Given the description of an element on the screen output the (x, y) to click on. 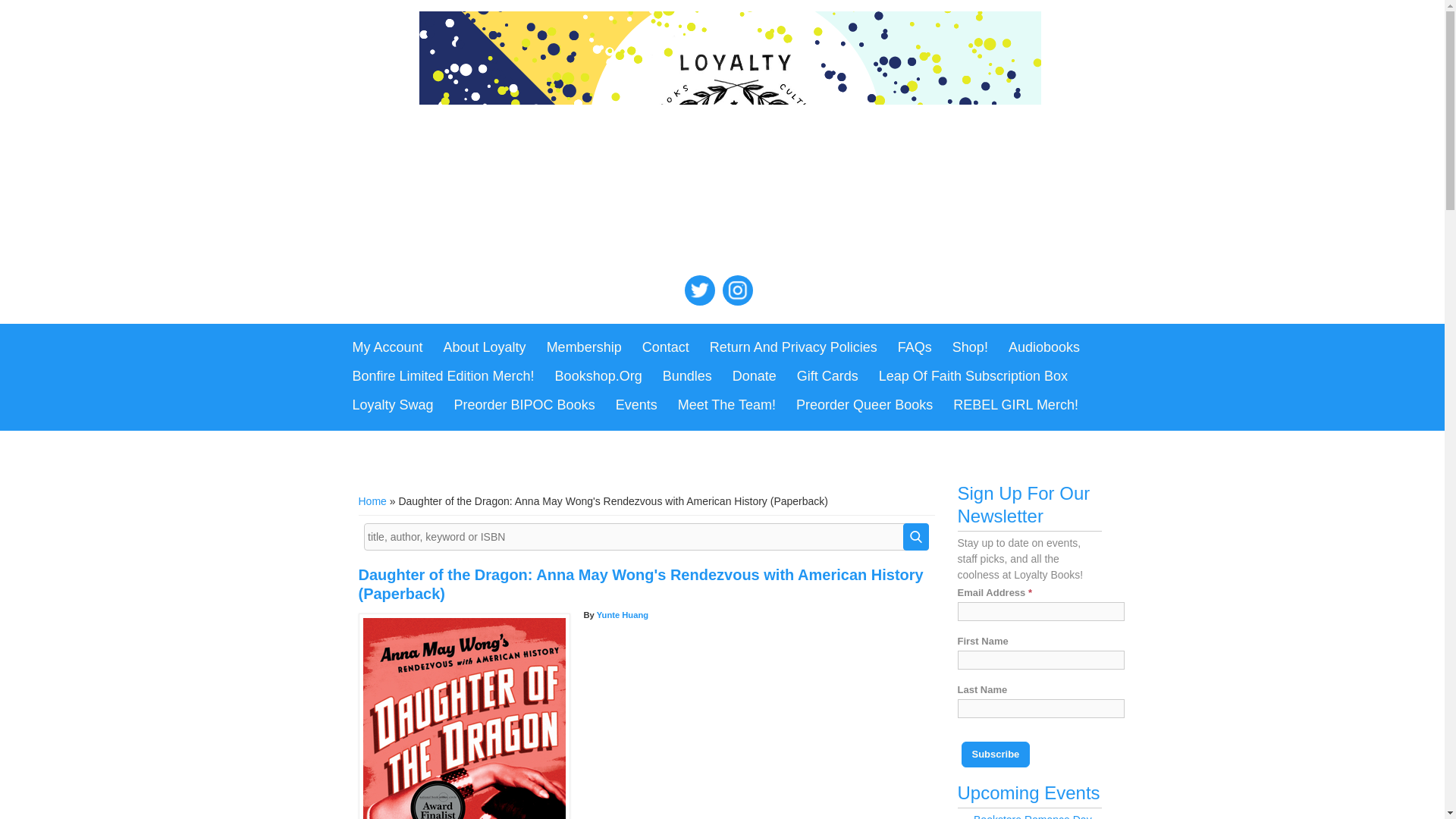
Membership (583, 347)
Preorder BIPOC Books (524, 405)
Loyalty Swag (392, 405)
Subscribe (995, 754)
Audiobooks (1043, 347)
Shop! (970, 347)
Subscribe (995, 754)
Events (636, 405)
FAQs (914, 347)
Membership Program options with Loyalty Bookstores (583, 347)
